Given the description of an element on the screen output the (x, y) to click on. 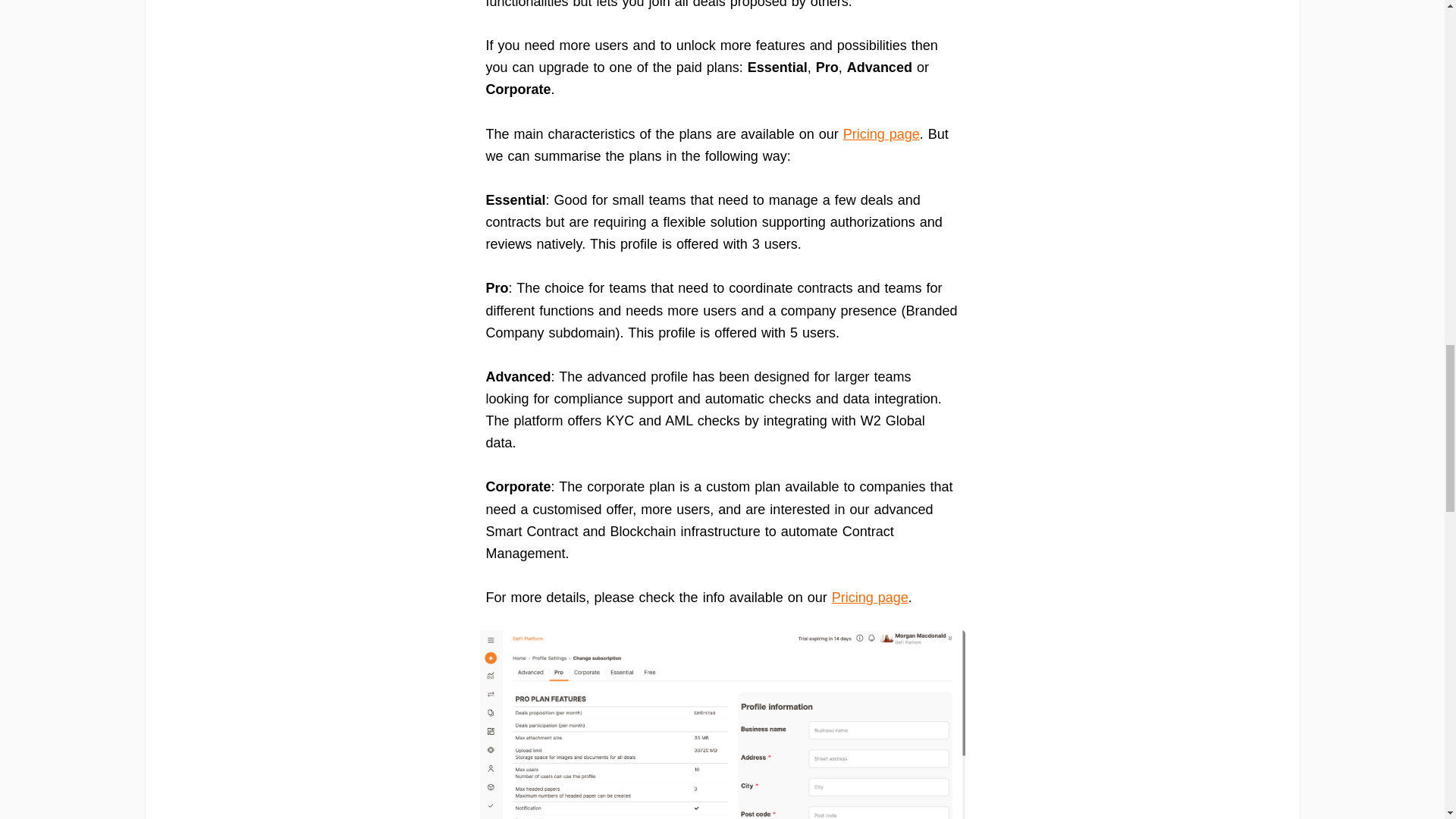
Pricing page (881, 133)
Pricing page (869, 597)
